Given the description of an element on the screen output the (x, y) to click on. 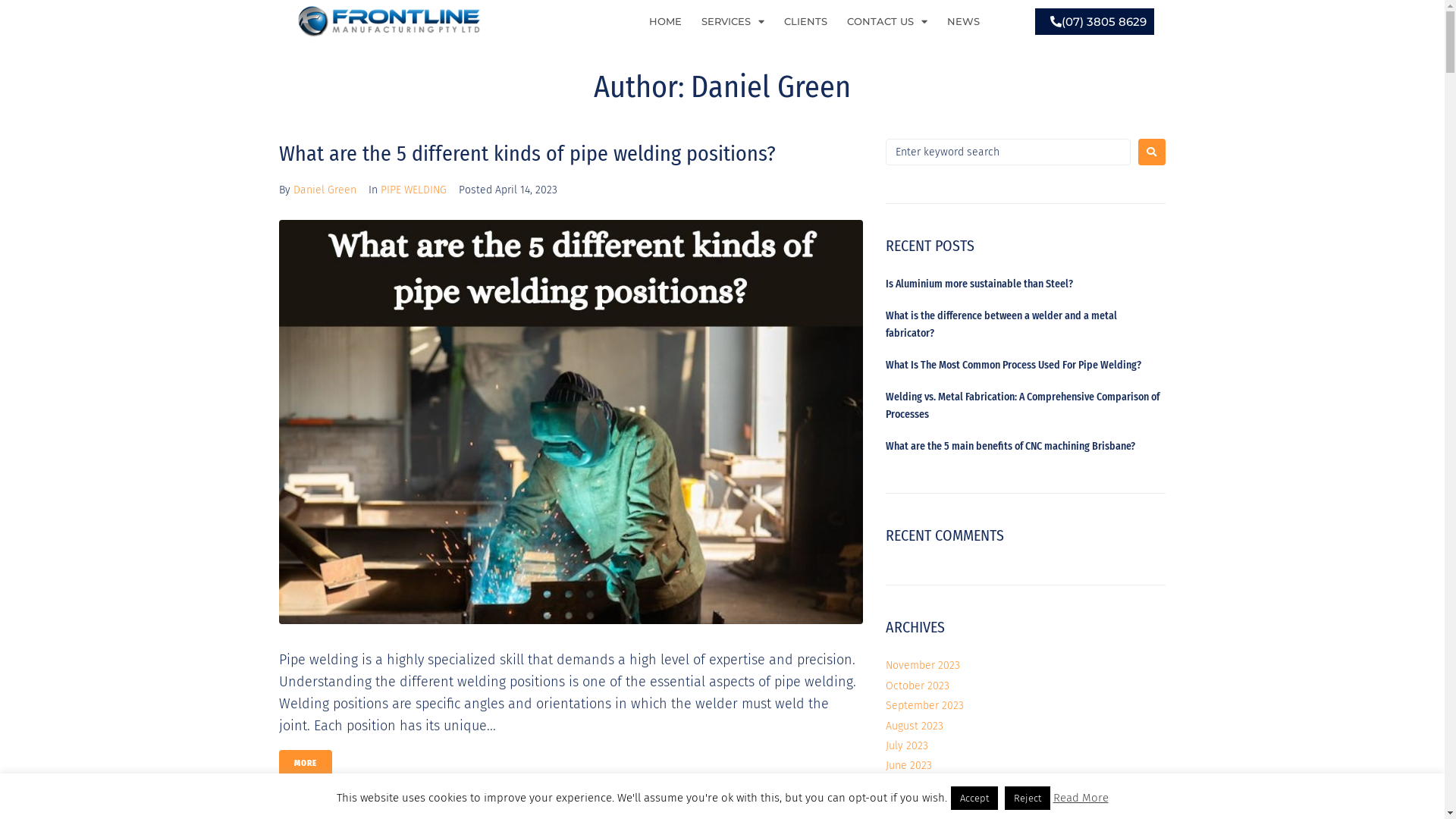
June 2023 Element type: text (908, 765)
PIPE WELDING Element type: text (413, 189)
Daniel Green Element type: text (323, 189)
HOME Element type: text (665, 20)
Reject Element type: text (1026, 797)
Read More Element type: text (1079, 797)
October 2023 Element type: text (917, 685)
August 2023 Element type: text (914, 725)
NEWS Element type: text (963, 20)
April 2023 Element type: text (908, 805)
(07) 3805 8629 Element type: text (1094, 21)
May 2023 Element type: text (907, 785)
What are the 5 main benefits of CNC machining Brisbane? Element type: text (1010, 445)
Is Aluminium more sustainable than Steel? Element type: text (979, 283)
MORE Element type: text (305, 762)
CLIENTS Element type: text (805, 20)
July 2023 Element type: text (906, 745)
September 2023 Element type: text (924, 705)
November 2023 Element type: text (922, 664)
What are the 5 different kinds of pipe welding positions? Element type: text (527, 153)
Accept Element type: text (973, 797)
SERVICES Element type: text (732, 20)
What Is The Most Common Process Used For Pipe Welding? Element type: text (1013, 364)
CONTACT US Element type: text (887, 20)
